Given the description of an element on the screen output the (x, y) to click on. 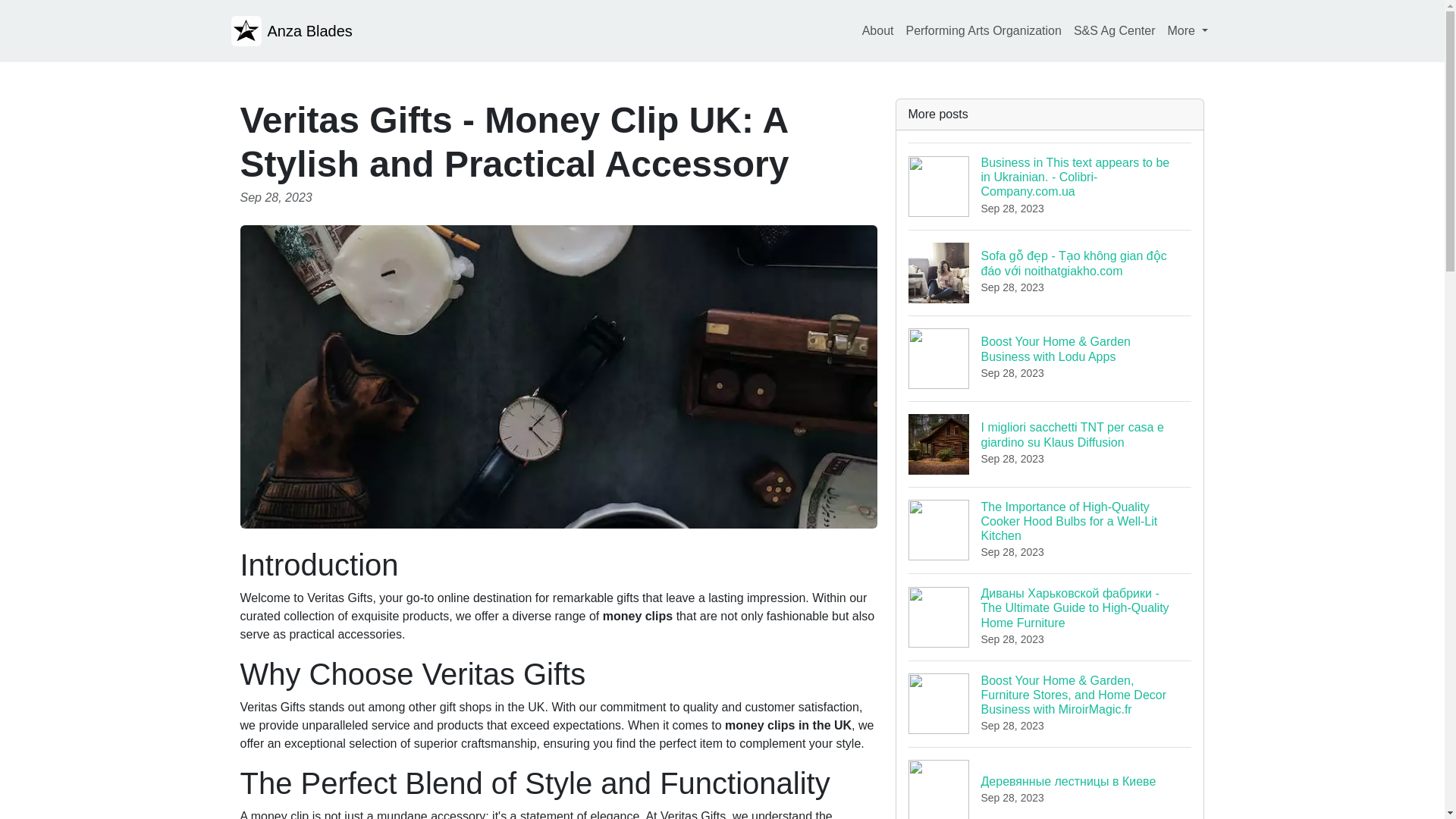
Performing Arts Organization (983, 30)
Anza Blades (291, 30)
About (877, 30)
More (1187, 30)
